Given the description of an element on the screen output the (x, y) to click on. 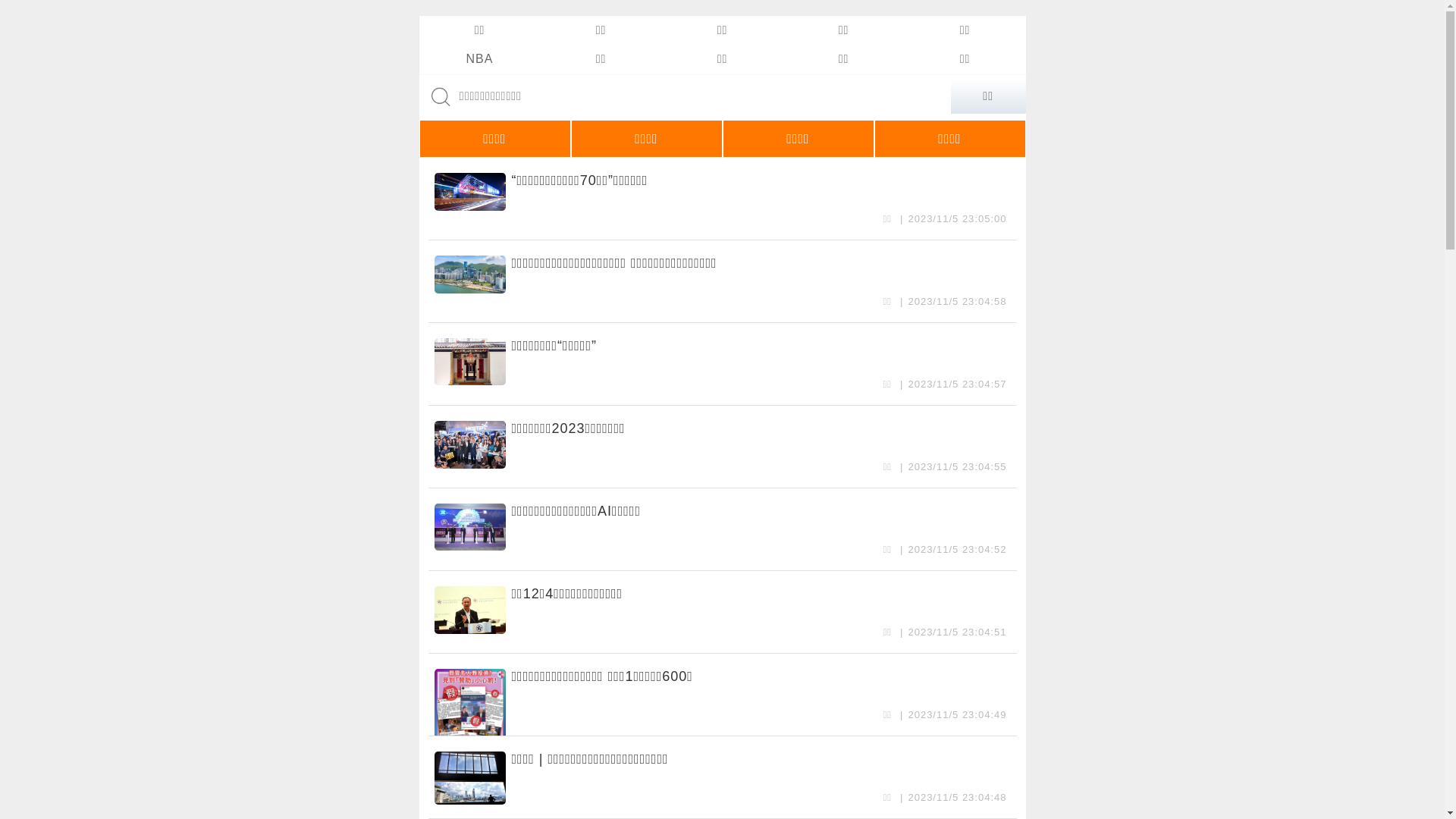
NBA Element type: text (478, 58)
